Given the description of an element on the screen output the (x, y) to click on. 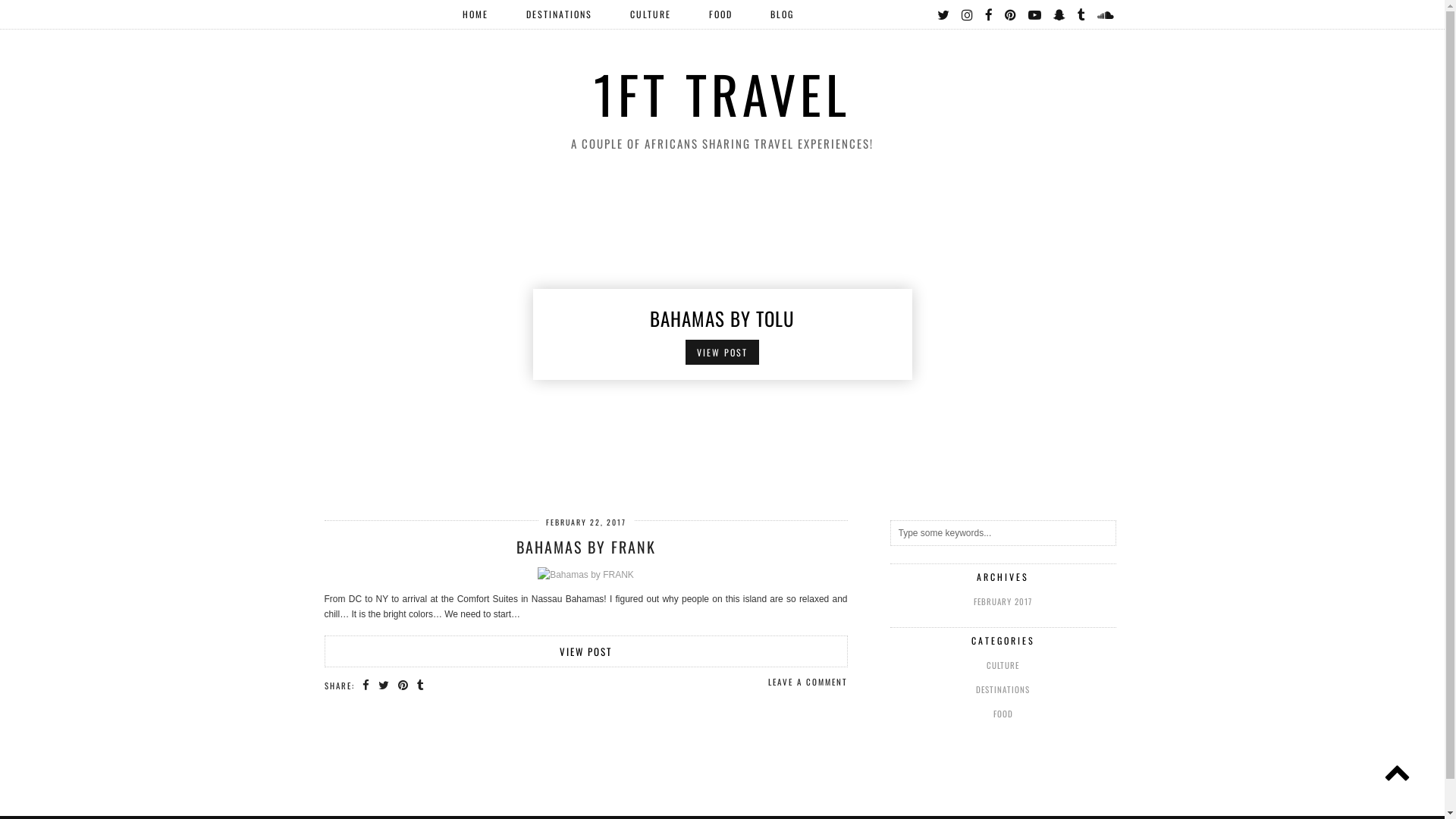
youtube Element type: hover (1035, 14)
CULTURE Element type: text (650, 14)
BAHAMAS BY TOLU Element type: text (721, 317)
pinterest Element type: hover (1010, 14)
FOOD Element type: text (1003, 713)
HOME Element type: text (474, 14)
BLOG Element type: text (781, 14)
Share on Pinterest Element type: hover (402, 684)
facebook Element type: hover (988, 14)
FEBRUARY 2017 Element type: text (1003, 601)
Share on Facebook Element type: hover (366, 684)
instagram Element type: hover (967, 14)
Bahamas by FRANK Element type: hover (585, 573)
LEAVE A COMMENT Element type: text (807, 681)
VIEW POST Element type: text (585, 651)
Share on Twitter Element type: hover (383, 684)
Share on tumblr Element type: hover (421, 684)
FOOD Element type: text (720, 14)
DESTINATIONS Element type: text (558, 14)
DESTINATIONS Element type: text (1003, 688)
twitter Element type: hover (943, 14)
BAHAMAS BY FRANK Element type: text (585, 546)
tumblr Element type: hover (1080, 14)
CULTURE Element type: text (1003, 664)
1FT TRAVEL Element type: text (721, 93)
VIEW POST Element type: text (722, 351)
snapchat Element type: hover (1059, 14)
